Given the description of an element on the screen output the (x, y) to click on. 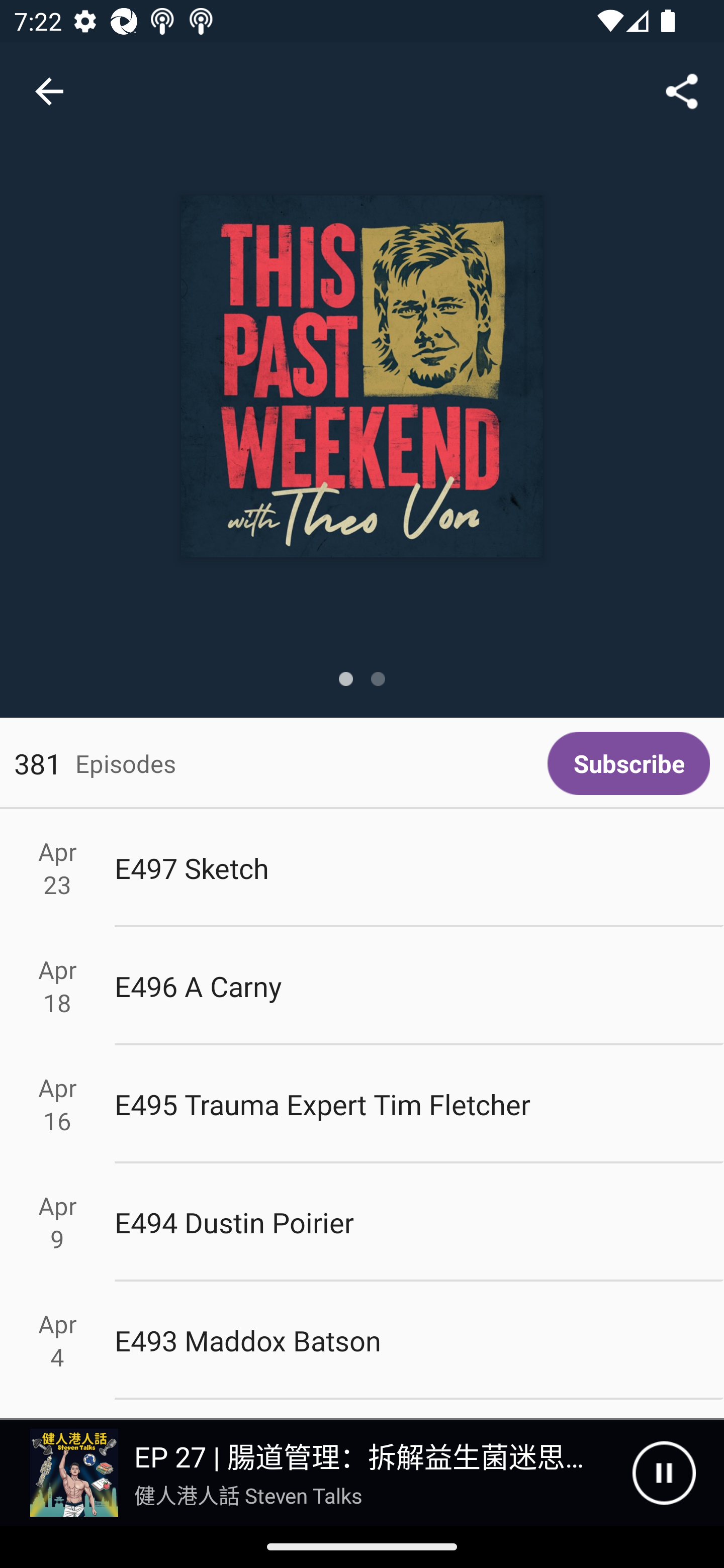
Navigate up (49, 91)
Share... (681, 90)
Subscribe (628, 763)
Apr 23 E497 Sketch (362, 867)
Apr 18 E496 A Carny (362, 985)
Apr 16 E495 Trauma Expert Tim Fletcher (362, 1104)
Apr 9 E494 Dustin Poirier (362, 1222)
Apr 4 E493 Maddox Batson (362, 1340)
Pause (663, 1472)
